Given the description of an element on the screen output the (x, y) to click on. 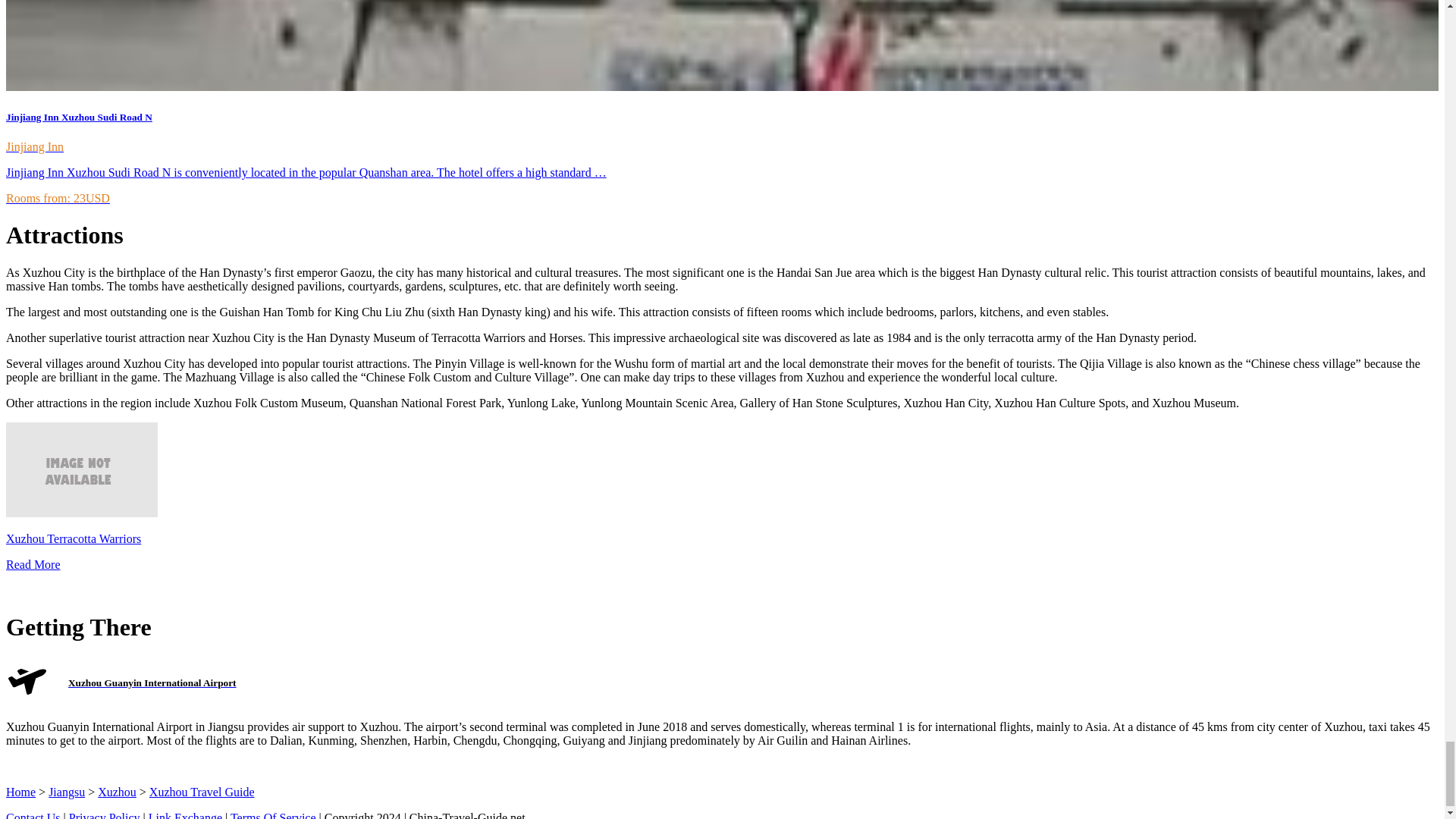
Xuzhou Travel Guide (201, 791)
Home (19, 791)
Xuzhou (116, 791)
Jiangsu (66, 791)
Xuzhou Guanyin International Airport (151, 683)
